Given the description of an element on the screen output the (x, y) to click on. 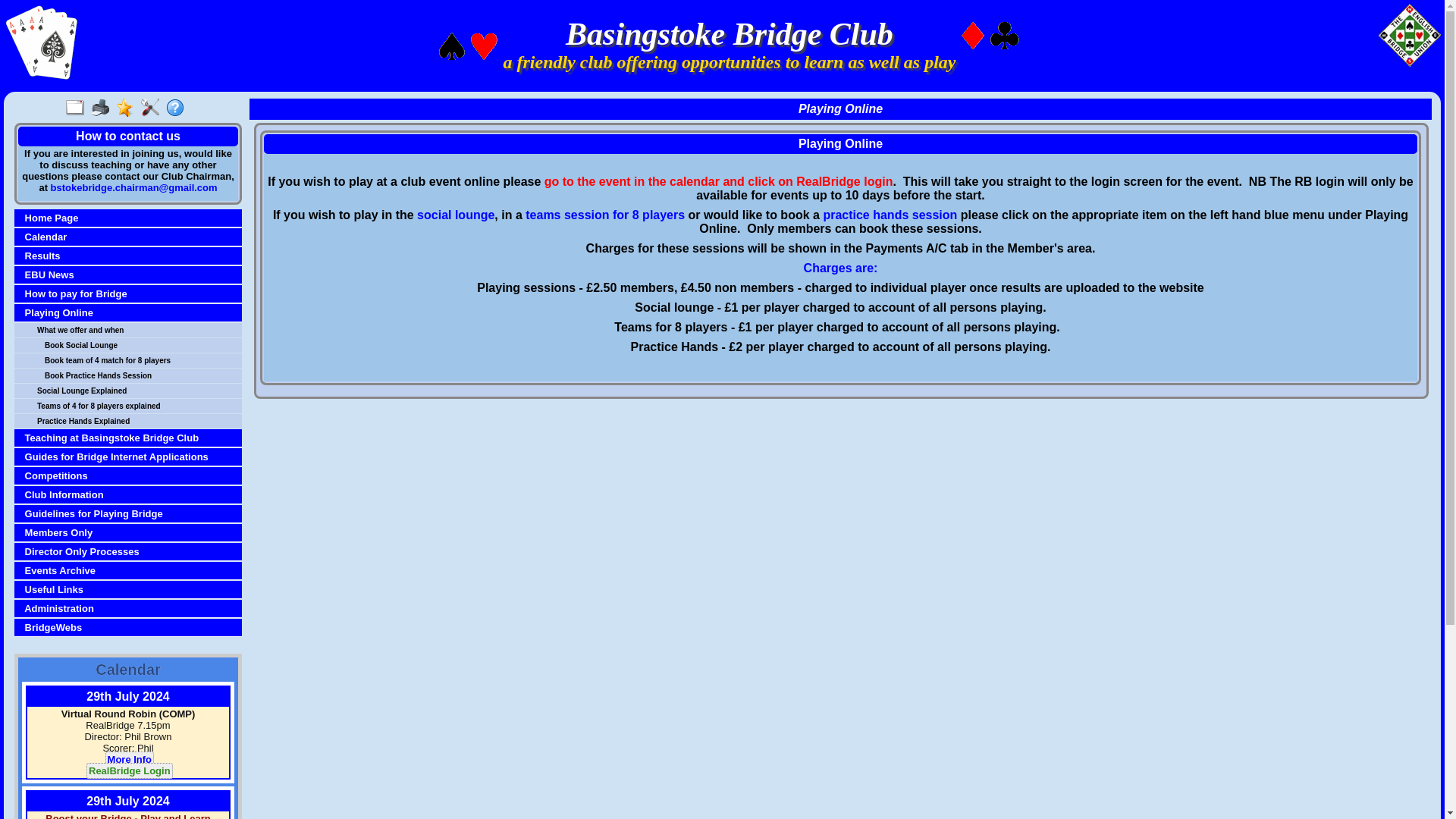
RealBridge Login (129, 770)
 Administration (129, 608)
Teams of 4 for 8 players explained (137, 406)
What we offer and when (137, 329)
 Guides for Bridge Internet Applications (129, 456)
 Results (129, 255)
 Useful Links (129, 589)
 Members Only (129, 532)
 More Info (128, 759)
Web Administration (153, 107)
 BridgeWebs (129, 627)
Print Page (103, 107)
 Guidelines for Playing Bridge (129, 513)
Heart (483, 46)
Social Lounge Explained (137, 390)
